Given the description of an element on the screen output the (x, y) to click on. 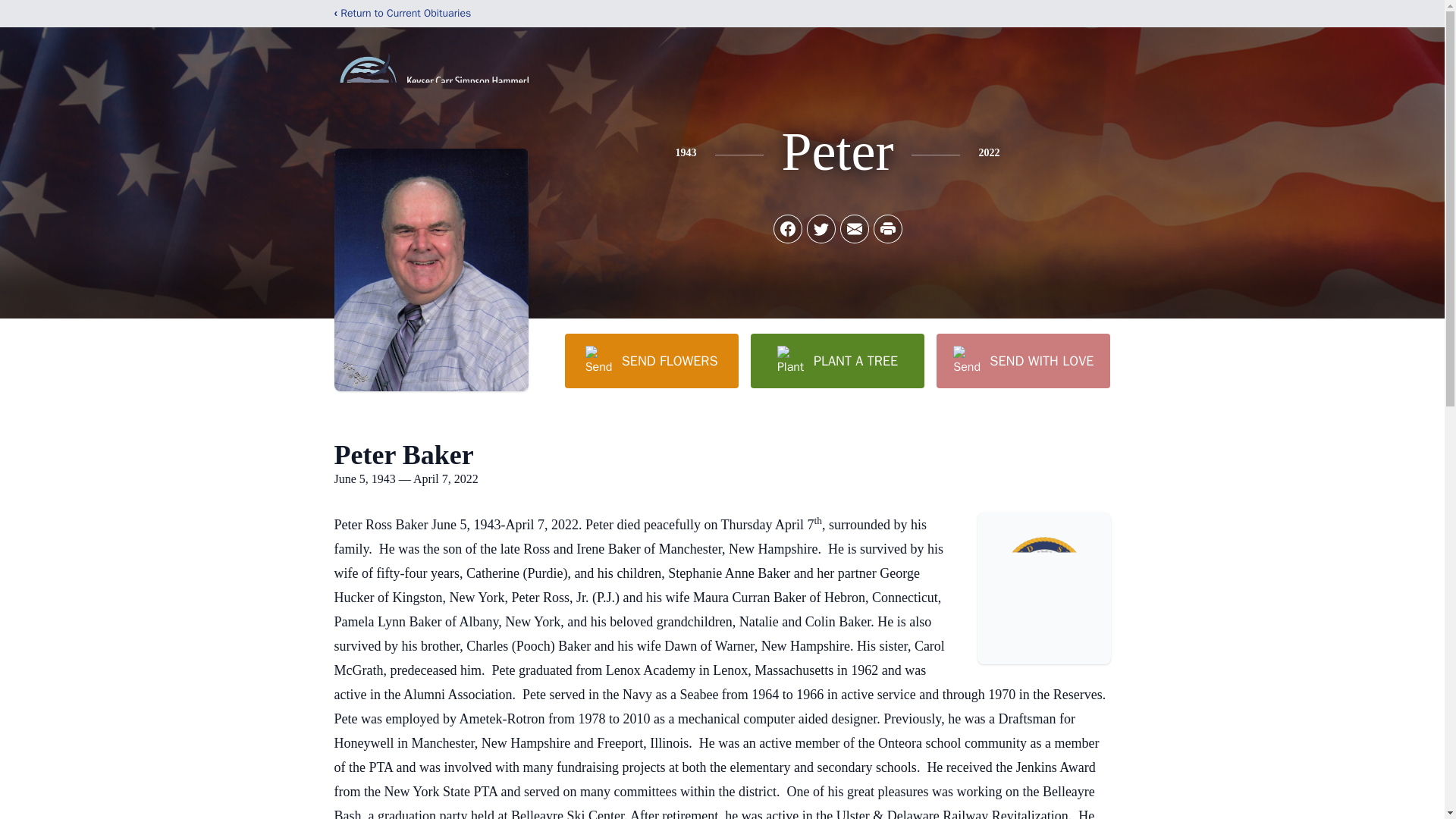
SEND FLOWERS (651, 360)
PLANT A TREE (837, 360)
SEND WITH LOVE (1022, 360)
